Given the description of an element on the screen output the (x, y) to click on. 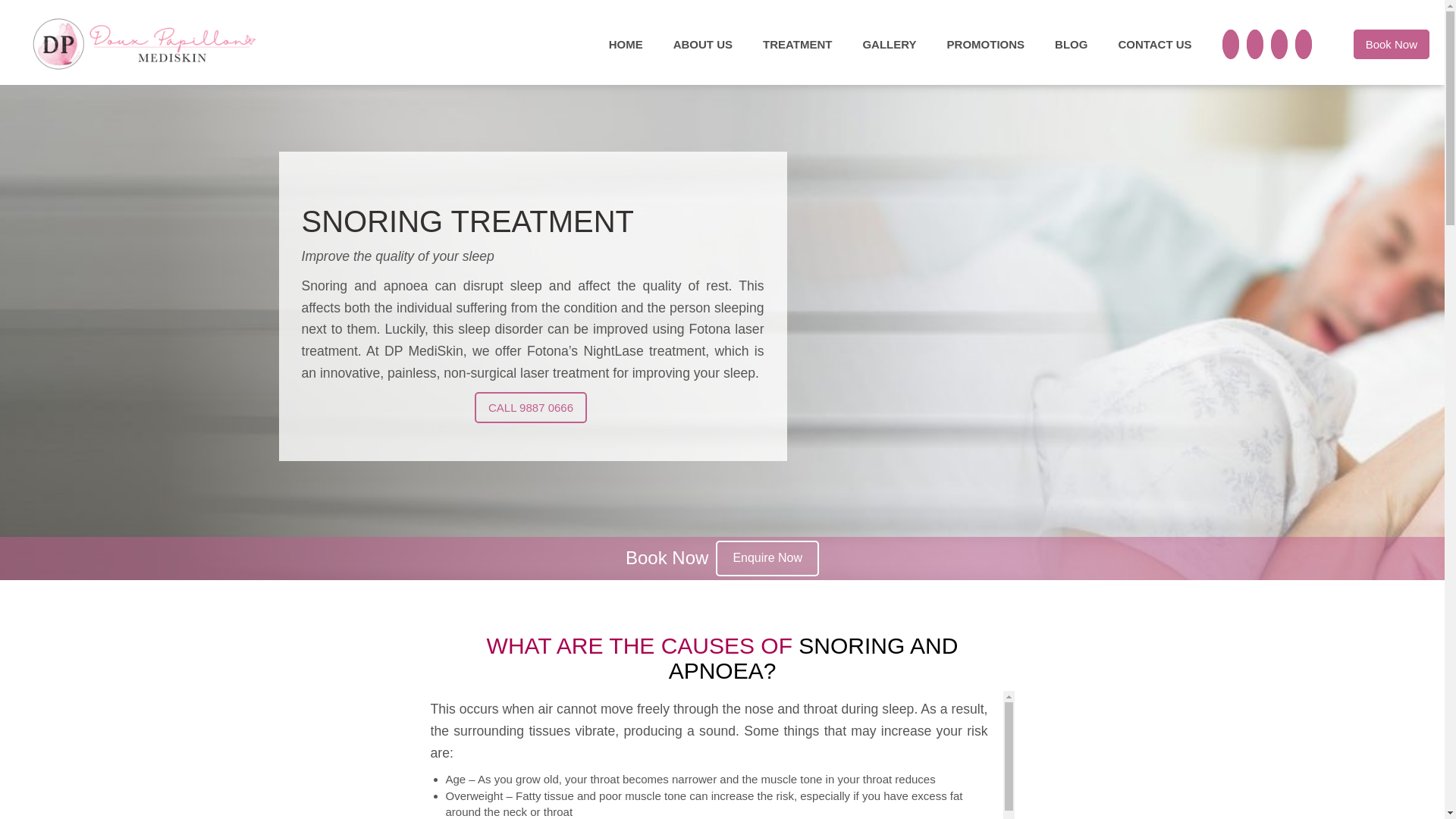
HOME Element type: text (625, 44)
BLOG Element type: text (1070, 44)
TREATMENT Element type: text (797, 44)
GALLERY Element type: text (888, 44)
ABOUT US Element type: text (702, 44)
Enquire Now Element type: text (767, 558)
CALL 9887 0666 Element type: text (530, 407)
PROMOTIONS Element type: text (985, 44)
Book Now Element type: text (1391, 44)
CONTACT US Element type: text (1154, 44)
